Given the description of an element on the screen output the (x, y) to click on. 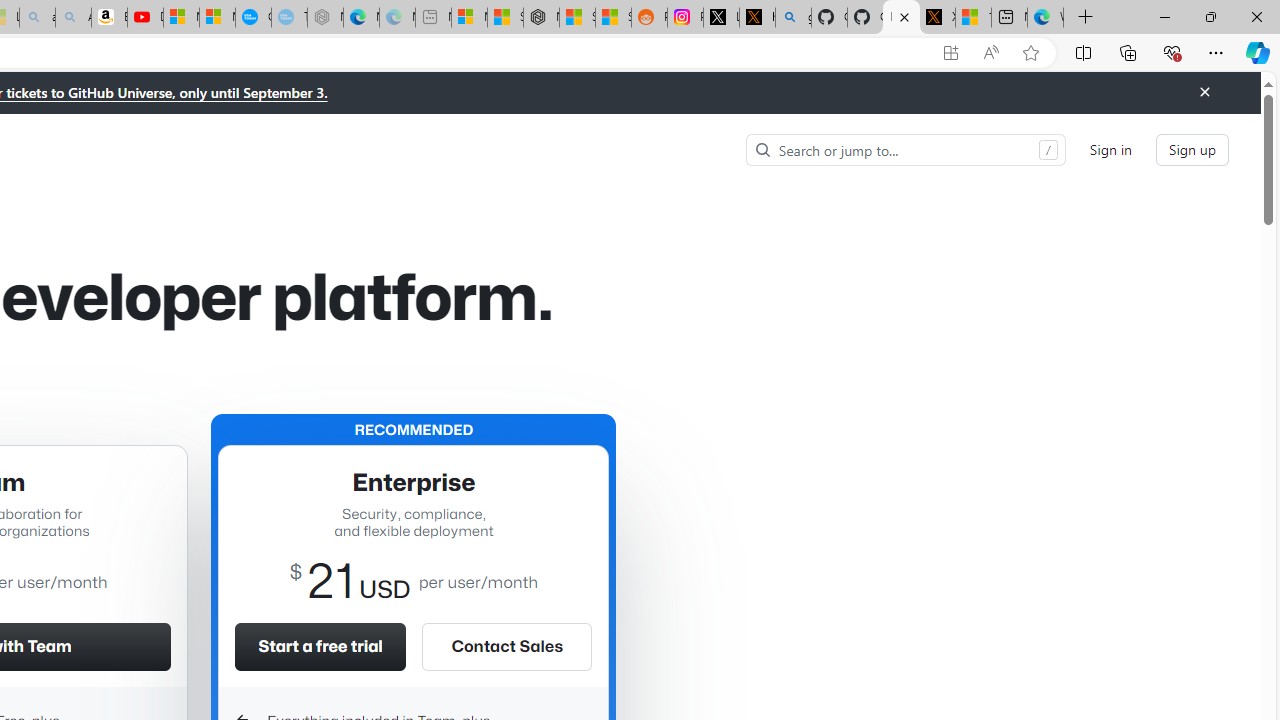
github - Search (793, 17)
Microsoft account | Microsoft Account Privacy Settings (469, 17)
Log in to X / X (721, 17)
Sign up (1191, 149)
Nordace - Nordace has arrived Hong Kong - Sleeping (325, 17)
Nordace - Duffels (541, 17)
The most popular Google 'how to' searches - Sleeping (289, 17)
